Given the description of an element on the screen output the (x, y) to click on. 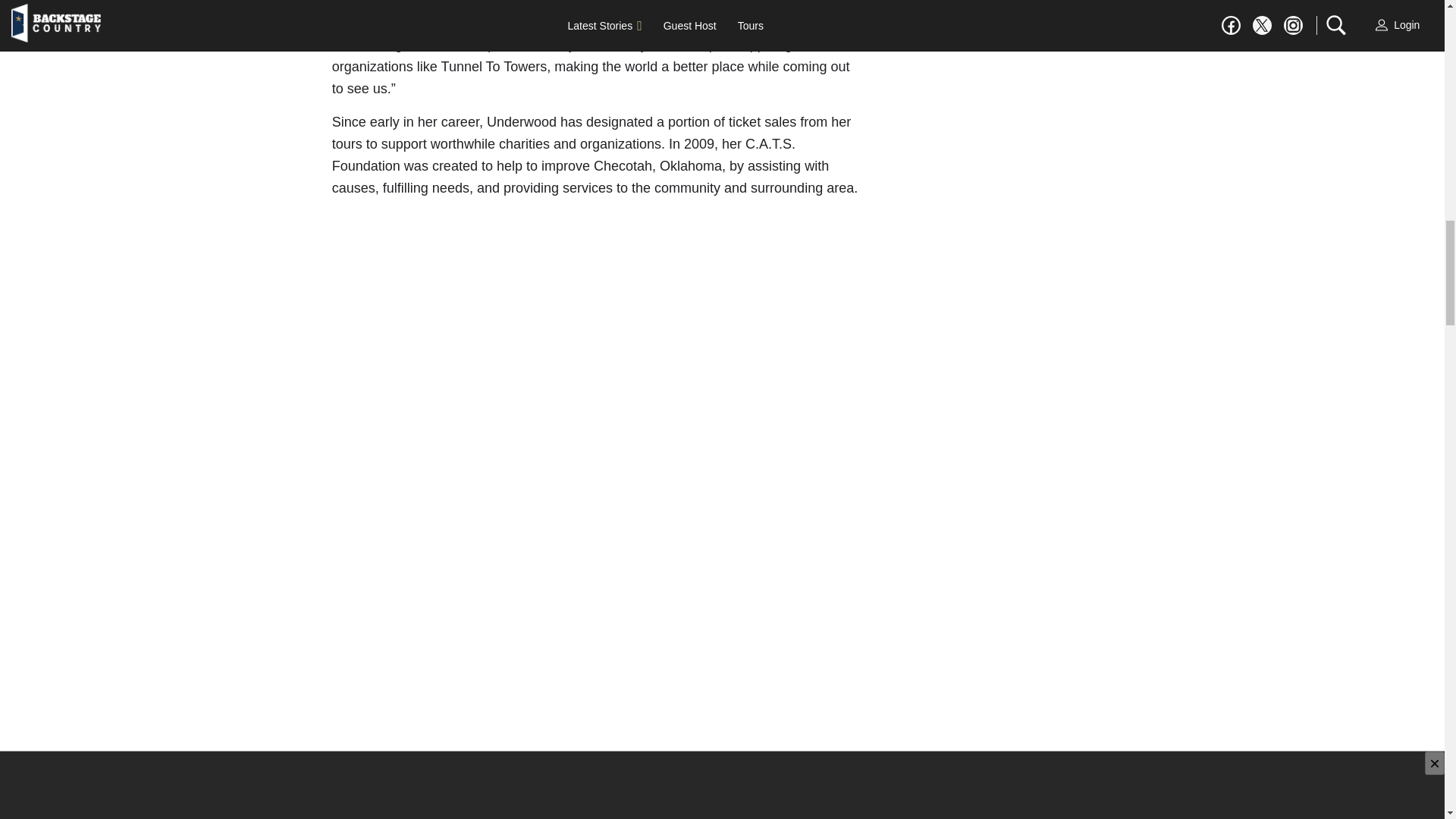
The Store (620, 816)
